Given the description of an element on the screen output the (x, y) to click on. 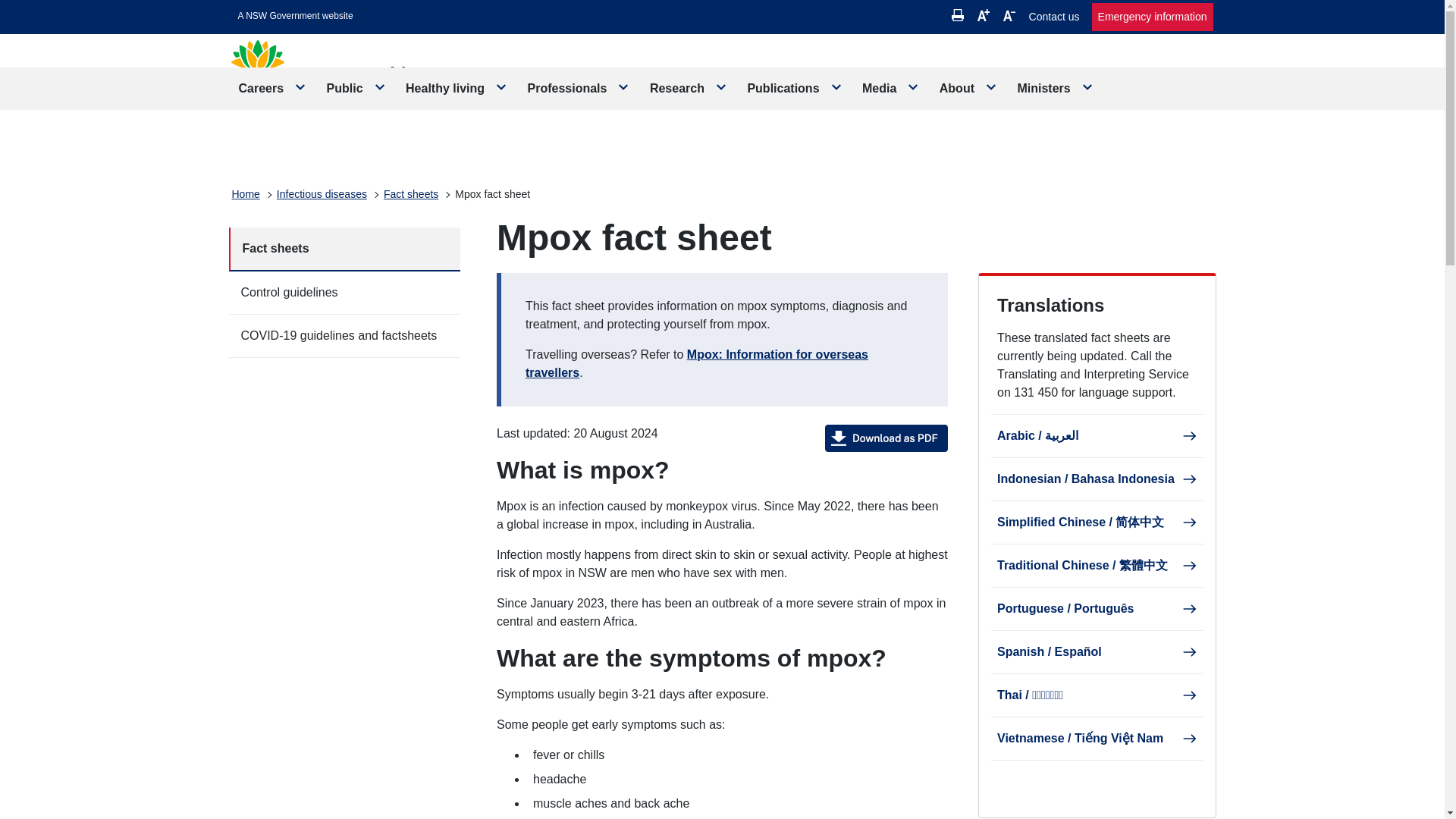
Skip to content (296, 15)
Home (245, 193)
Go to homepage (347, 79)
Careers (272, 88)
Contact us (1054, 17)
Print Page (957, 15)
Decrease Font Size (1008, 15)
Emergency information (1152, 17)
Increase Font Size (983, 15)
Public (356, 88)
